Given the description of an element on the screen output the (x, y) to click on. 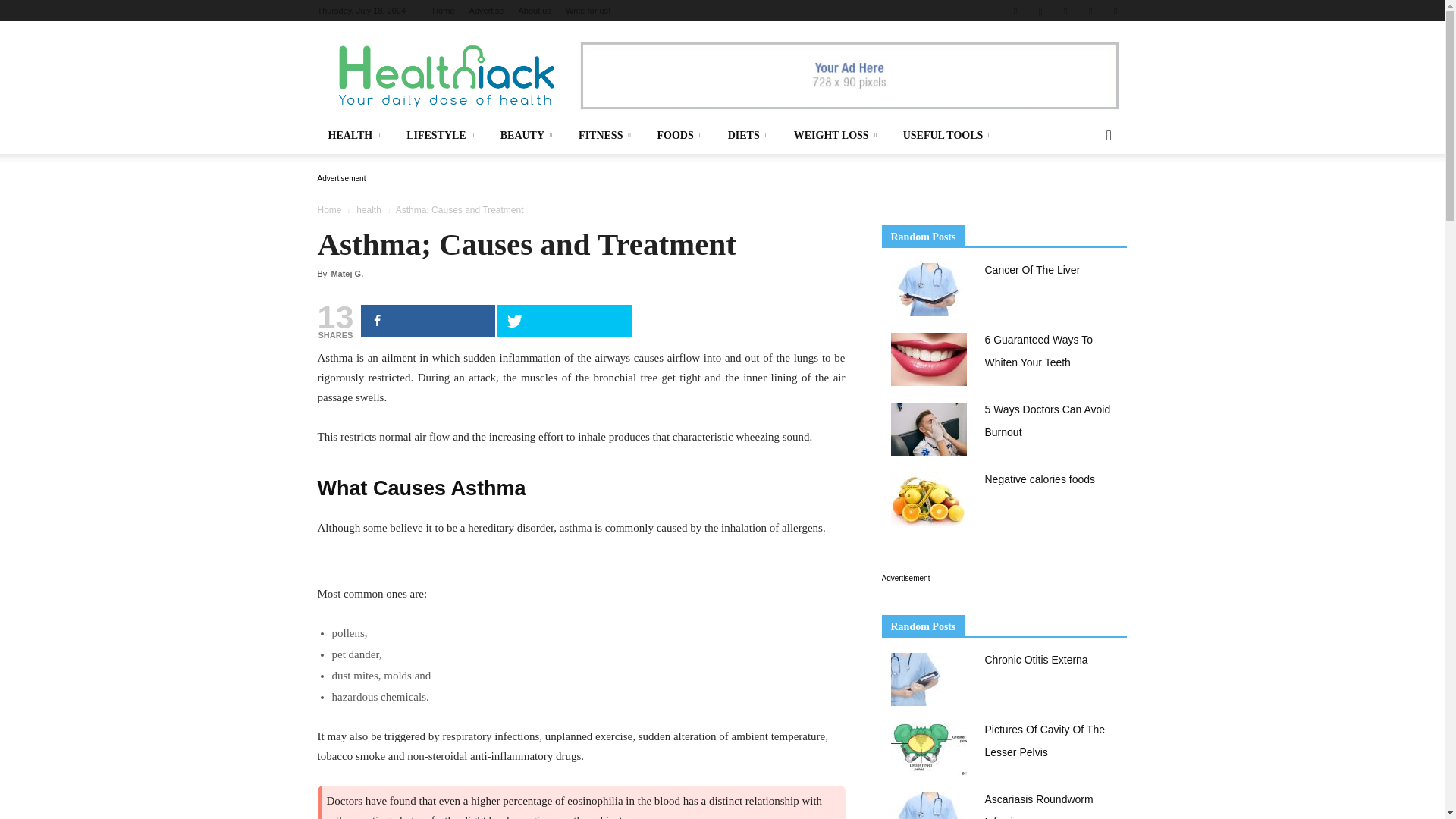
Youtube (1114, 10)
Twitter (1065, 10)
Advertise (485, 10)
About us (534, 10)
Instagram (1040, 10)
Write for us! (588, 10)
Facebook (1015, 10)
Home (443, 10)
Vimeo (1090, 10)
